Given the description of an element on the screen output the (x, y) to click on. 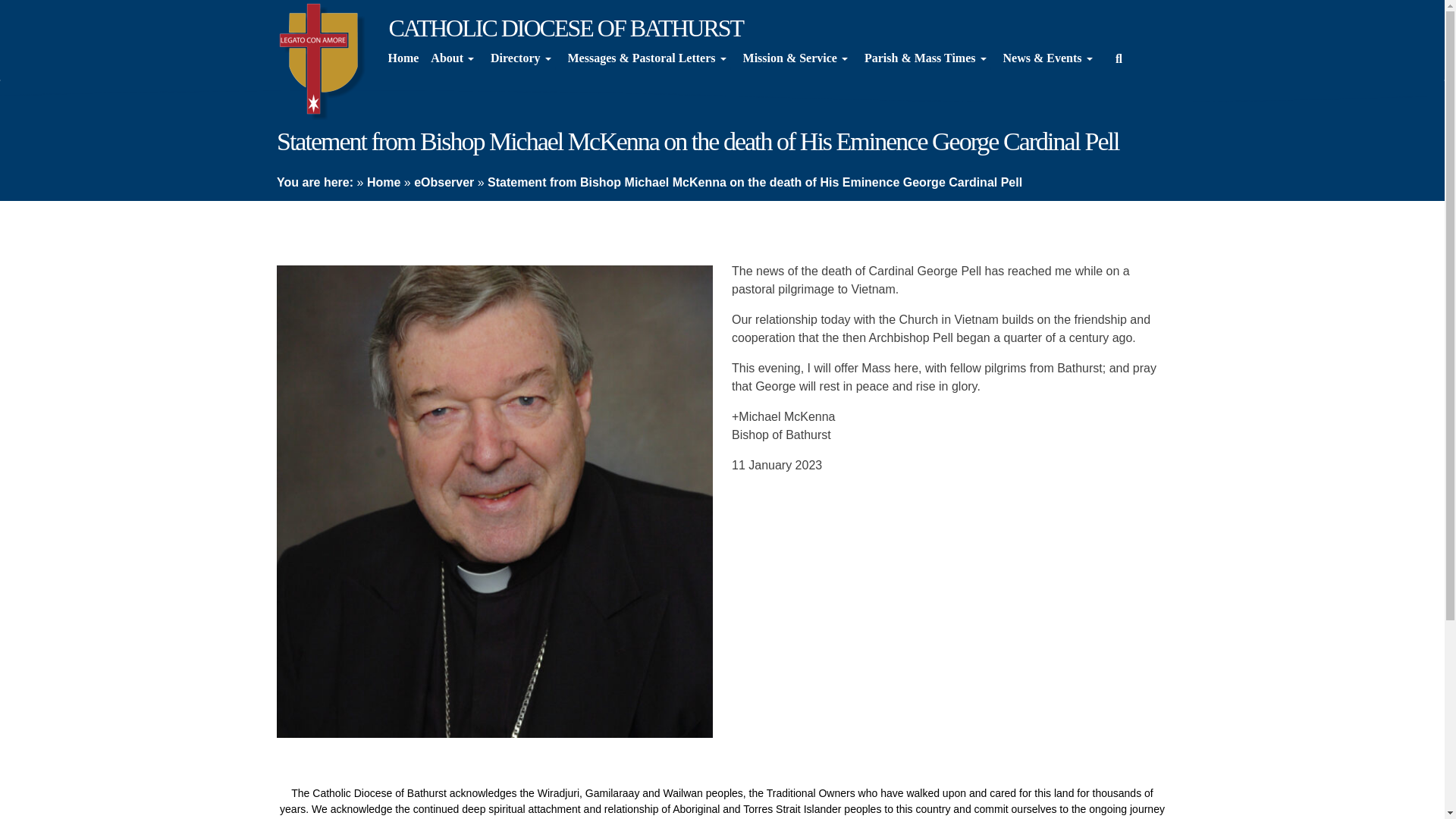
About (454, 57)
Home (403, 57)
Home (383, 182)
Directory (522, 57)
eObserver (443, 182)
